Given the description of an element on the screen output the (x, y) to click on. 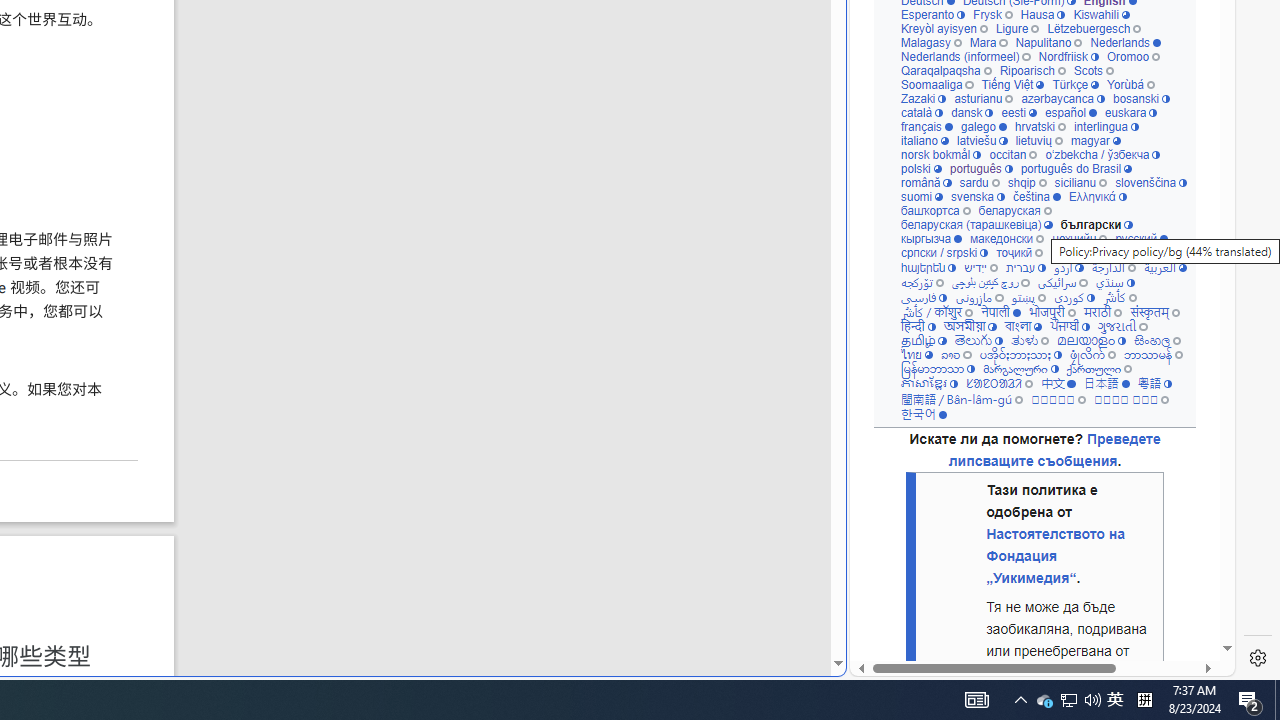
italiano (923, 140)
interlingua (1106, 125)
Kiswahili (1101, 14)
sardu (978, 182)
Kiswahili (1101, 14)
Oromoo (1132, 56)
Scots (1093, 70)
